Given the description of an element on the screen output the (x, y) to click on. 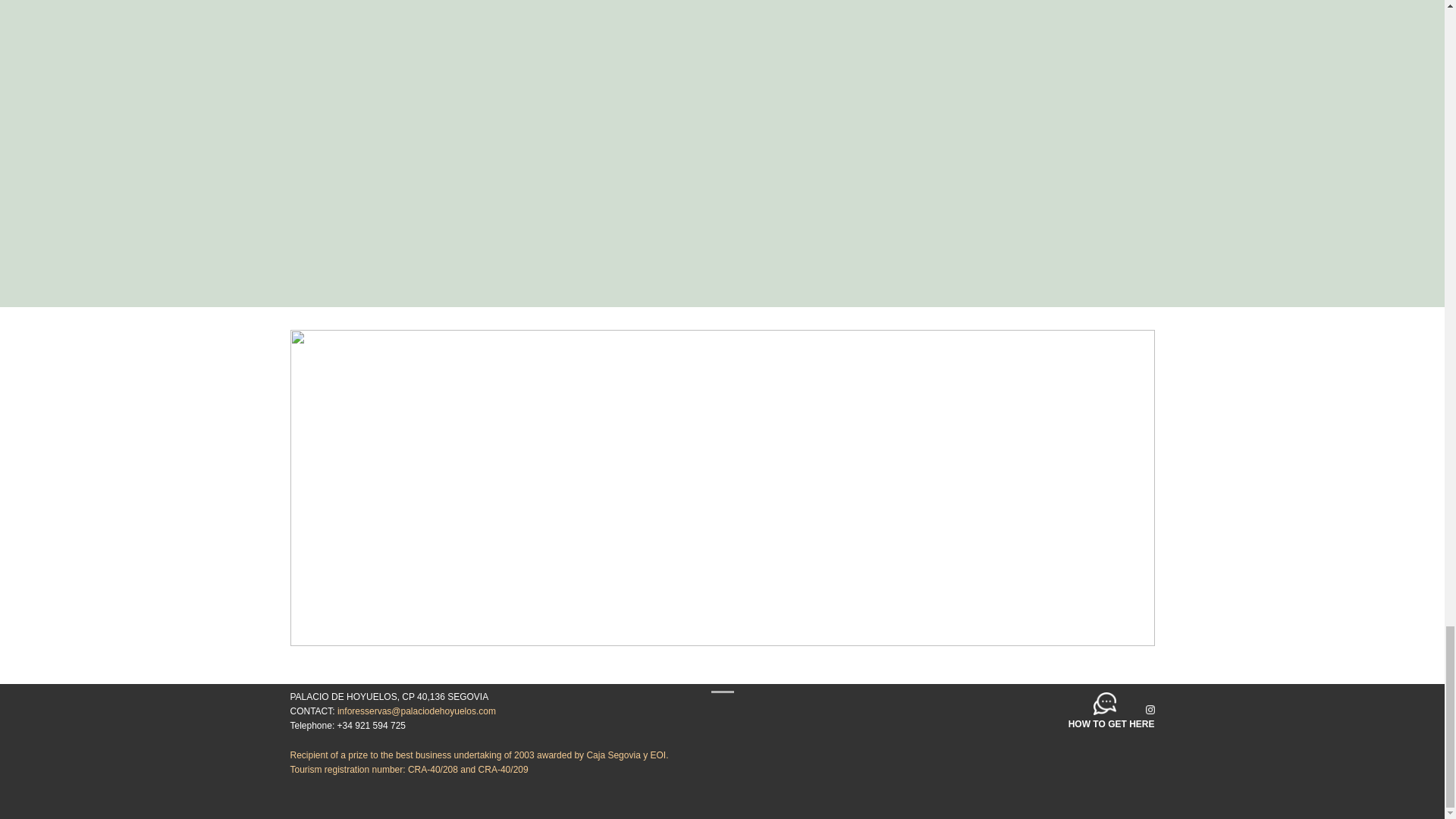
HOW TO GET HERE (1111, 724)
EOI (657, 755)
Caja Segovia (613, 755)
